Given the description of an element on the screen output the (x, y) to click on. 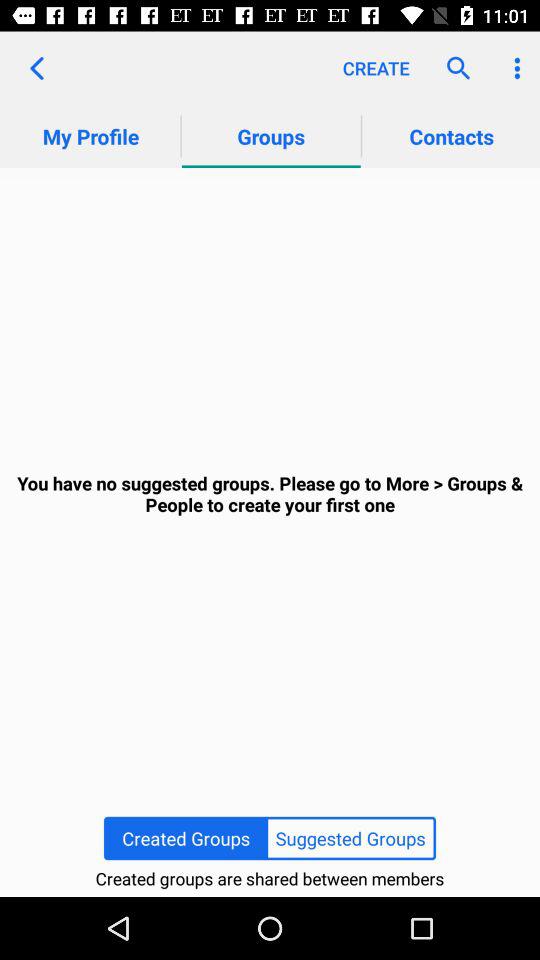
click app above my profile app (36, 68)
